Given the description of an element on the screen output the (x, y) to click on. 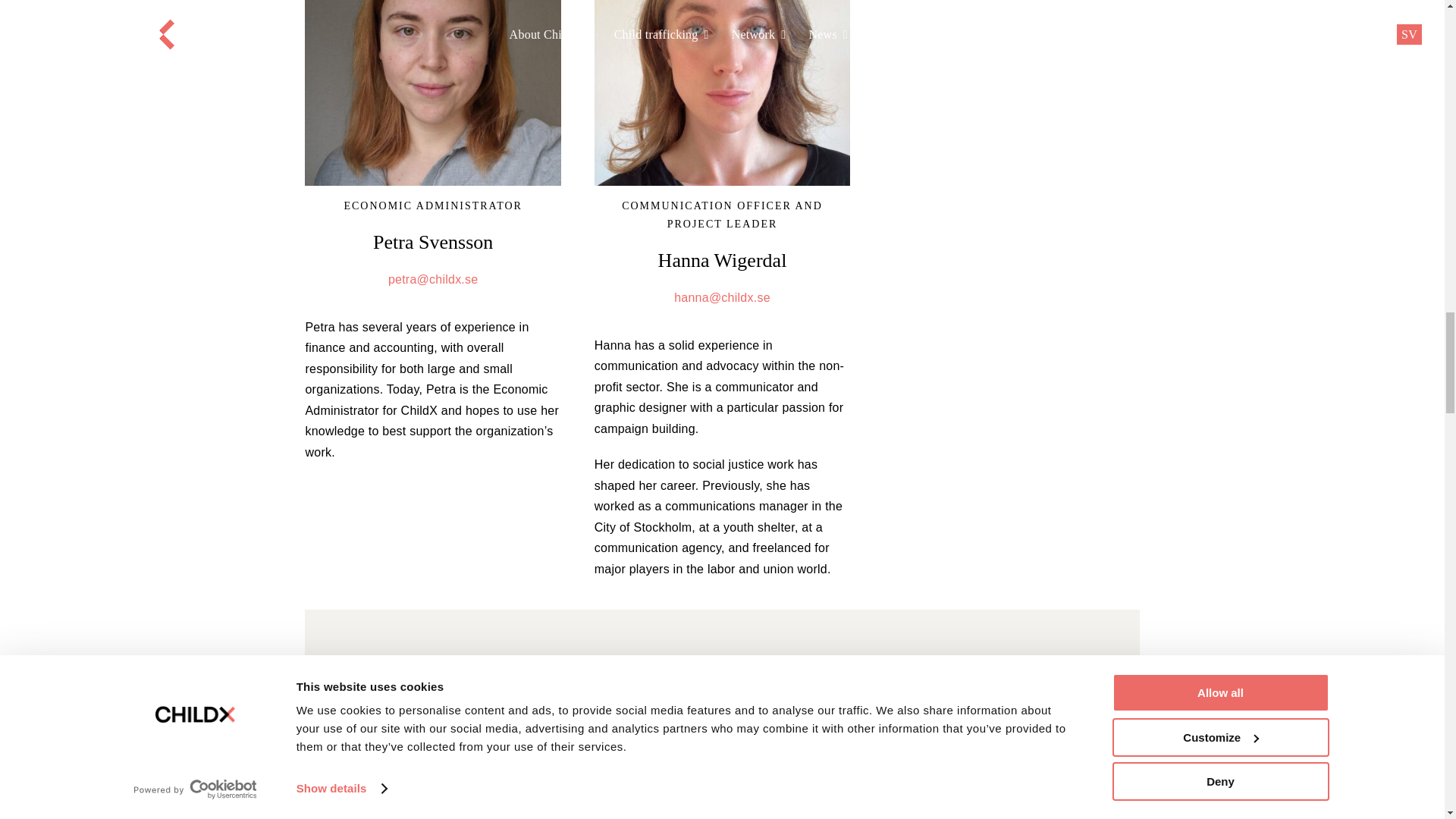
hanna hemsida - ChildX (722, 92)
petra hemsida - ChildX (432, 92)
